Given the description of an element on the screen output the (x, y) to click on. 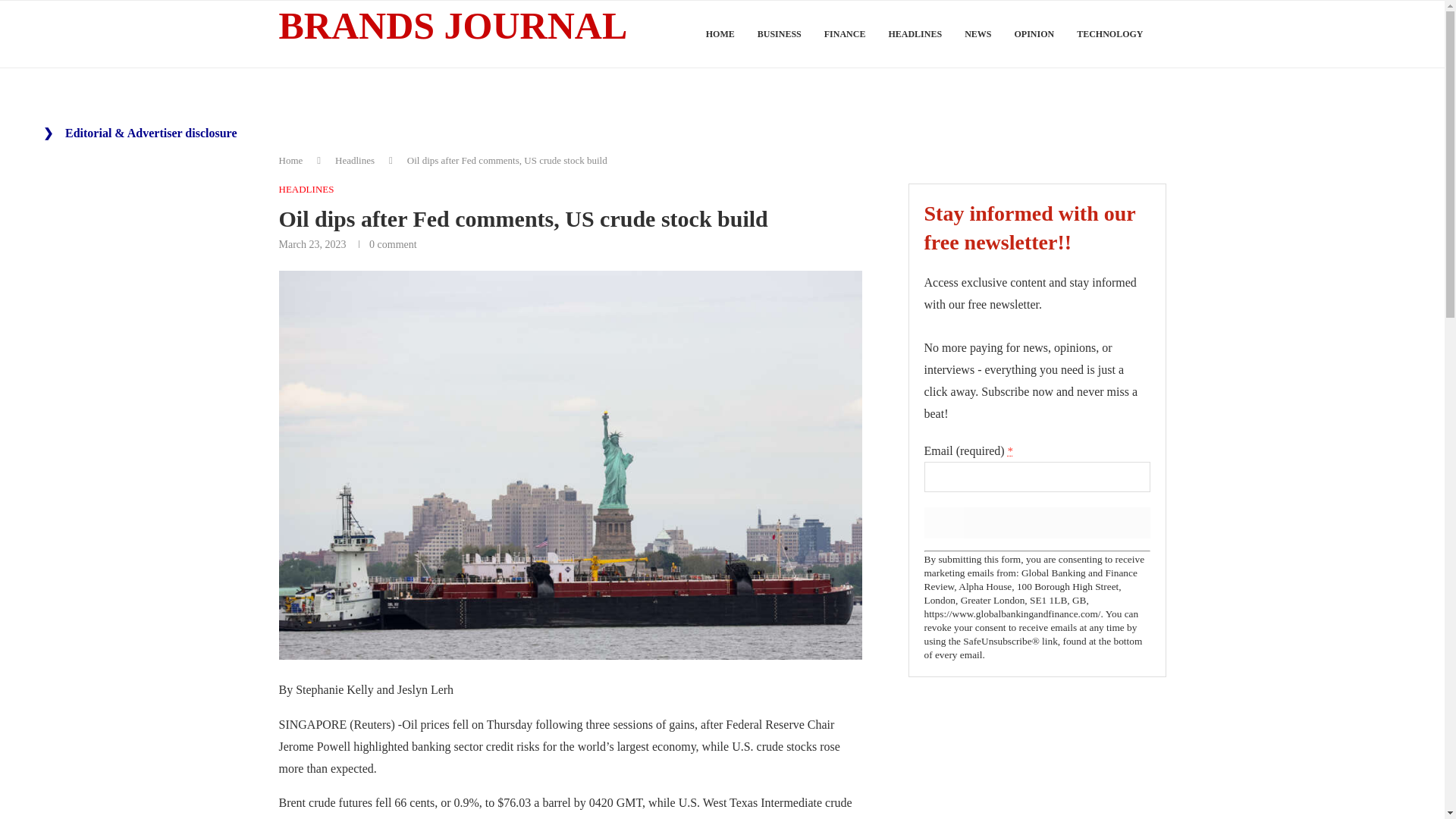
Sign up! (1036, 522)
HEADLINES (306, 189)
Headlines (354, 160)
TECHNOLOGY (1109, 33)
Home (290, 160)
BRANDS JOURNAL (453, 26)
Sign up! (1036, 522)
